Given the description of an element on the screen output the (x, y) to click on. 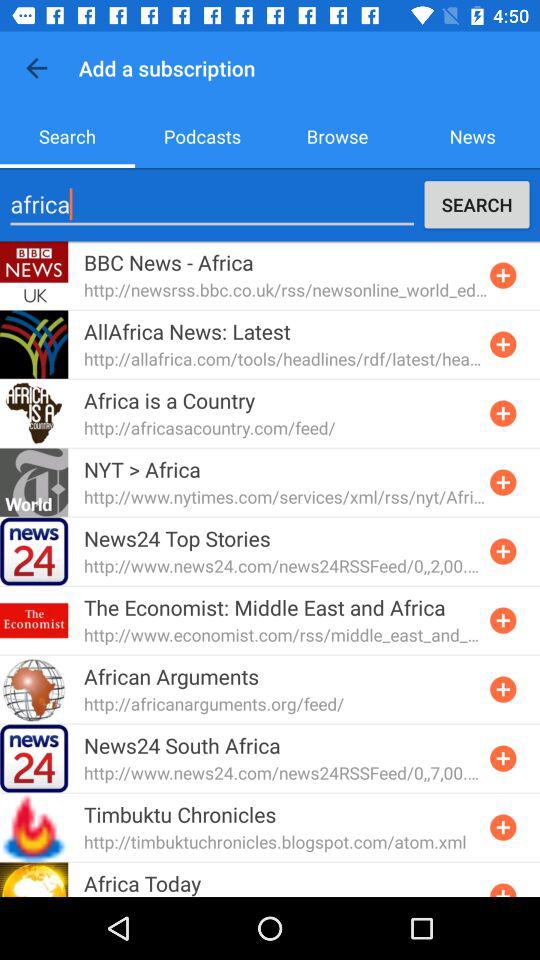
turn on icon next to the podcasts icon (337, 136)
